Given the description of an element on the screen output the (x, y) to click on. 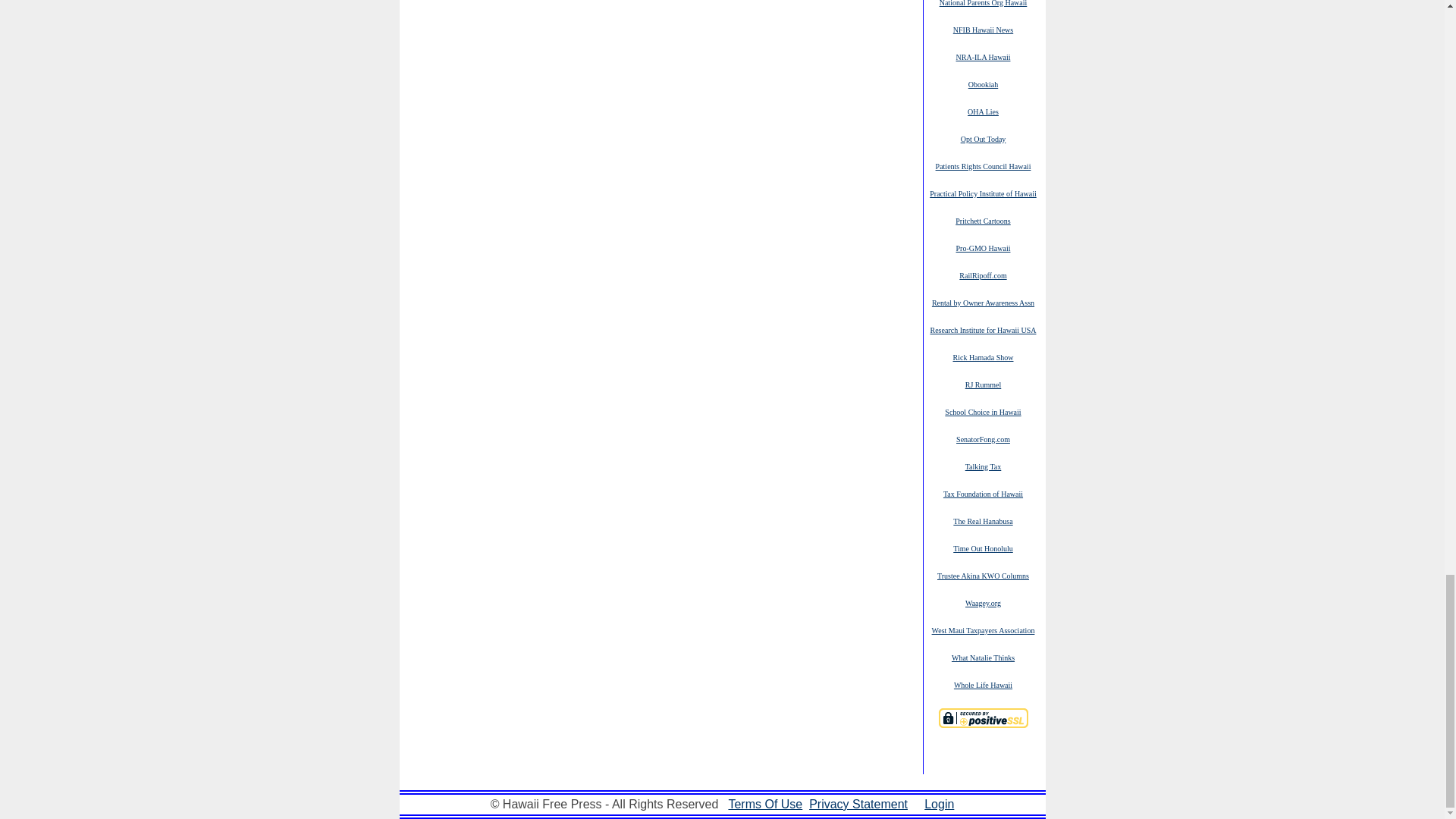
Login (938, 803)
